Given the description of an element on the screen output the (x, y) to click on. 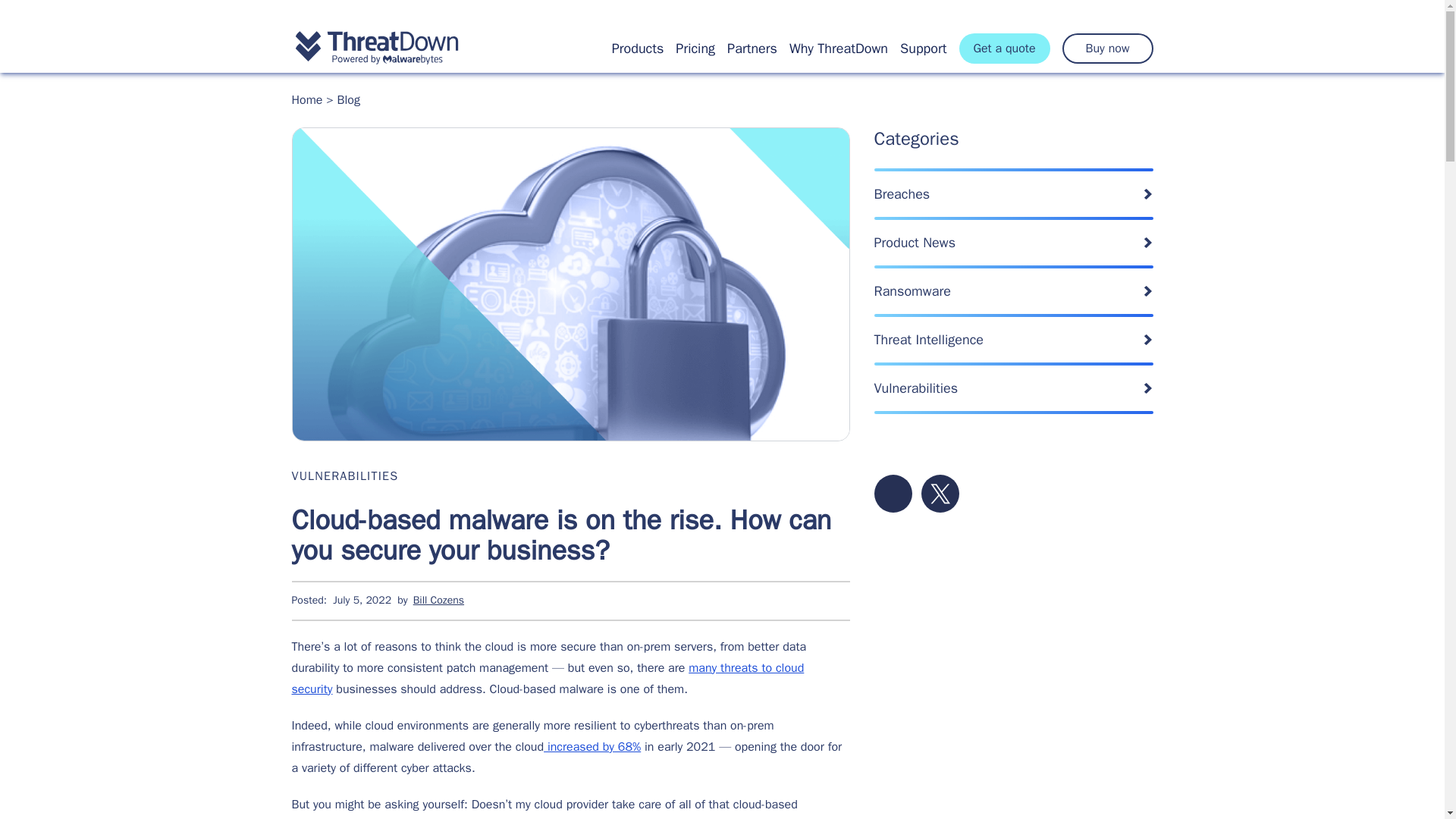
Buy now (1107, 48)
Home (306, 99)
many threats to cloud security (547, 678)
Pricing (694, 47)
Get a quote (1003, 48)
Bill Cozens (438, 599)
VULNERABILITIES (344, 476)
Blog (348, 99)
